Given the description of an element on the screen output the (x, y) to click on. 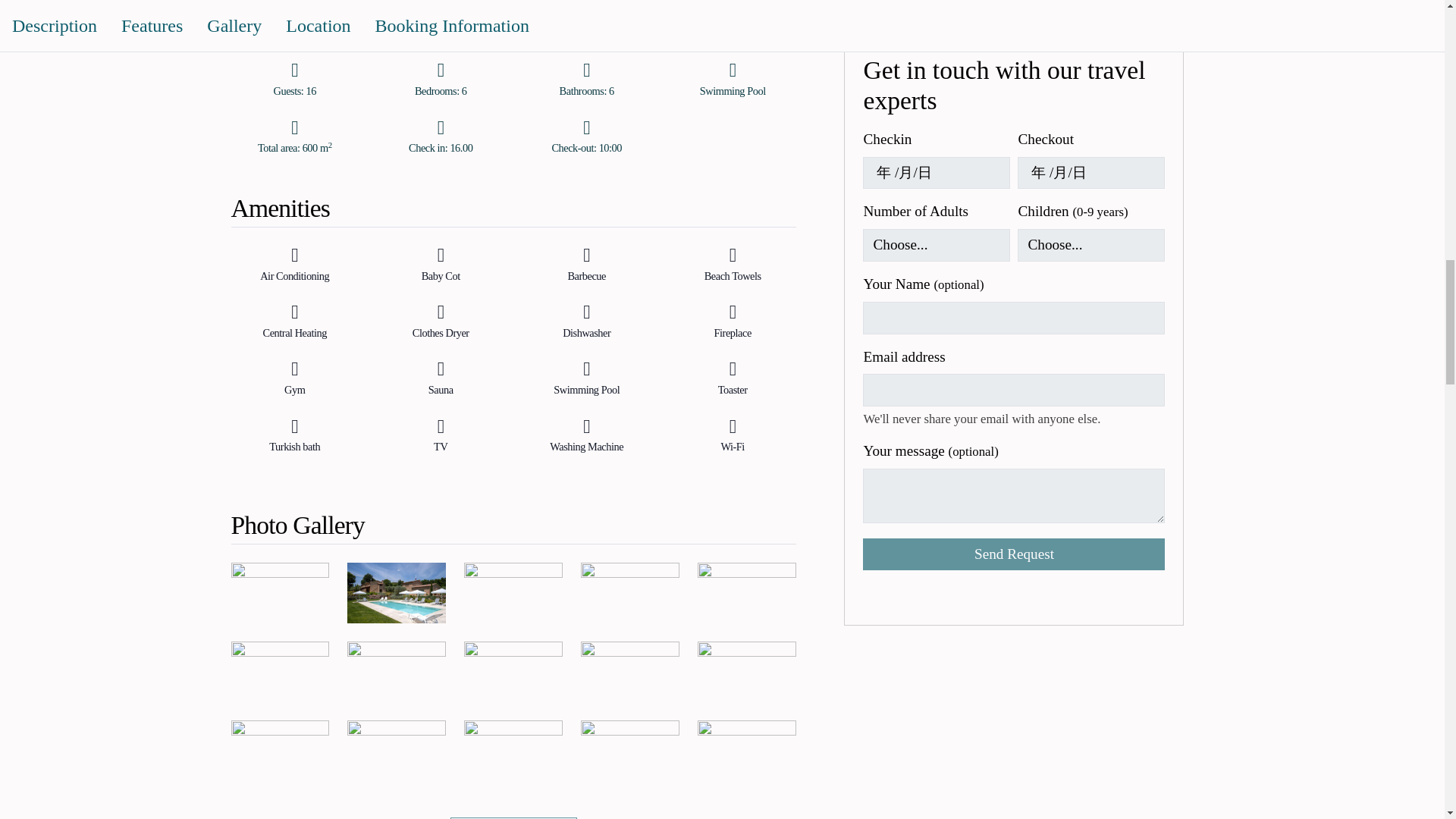
Image 5 of 67 (746, 592)
Image 1 of 67 (279, 592)
Image 14 of 67 (630, 750)
Image 10 of 67 (746, 671)
Image 2 of 67 (395, 592)
Image 13 of 67 (513, 750)
Image 6 of 67 (279, 671)
Image 4 of 67 (630, 592)
Image 15 of 67 (746, 750)
Image 7 of 67 (395, 671)
